Given the description of an element on the screen output the (x, y) to click on. 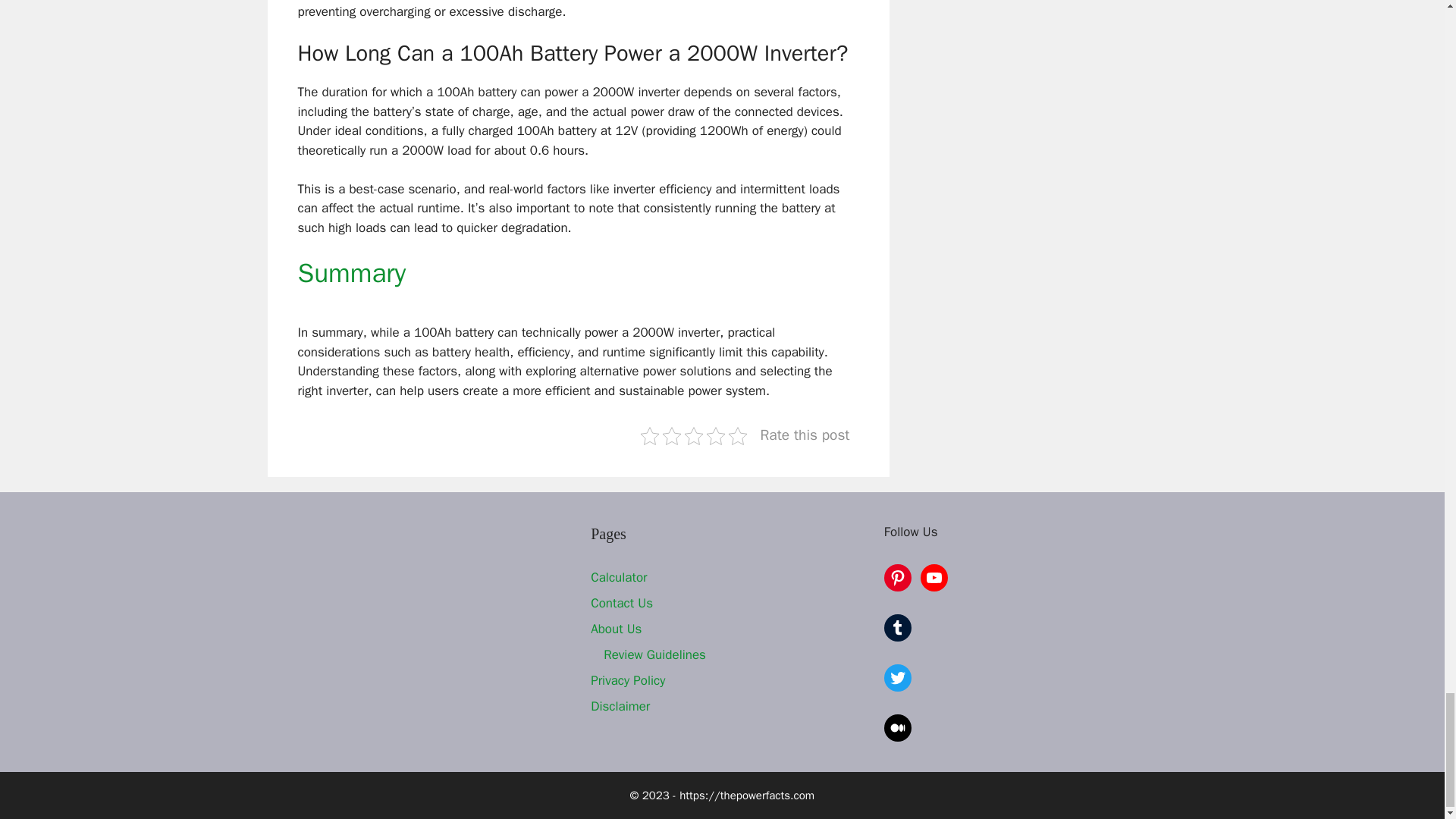
Review Guidelines (655, 654)
Pinterest (897, 577)
Disclaimer (620, 706)
About Us (616, 628)
Privacy Policy (628, 680)
Contact Us (621, 602)
Calculator (618, 577)
YouTube (933, 577)
